Given the description of an element on the screen output the (x, y) to click on. 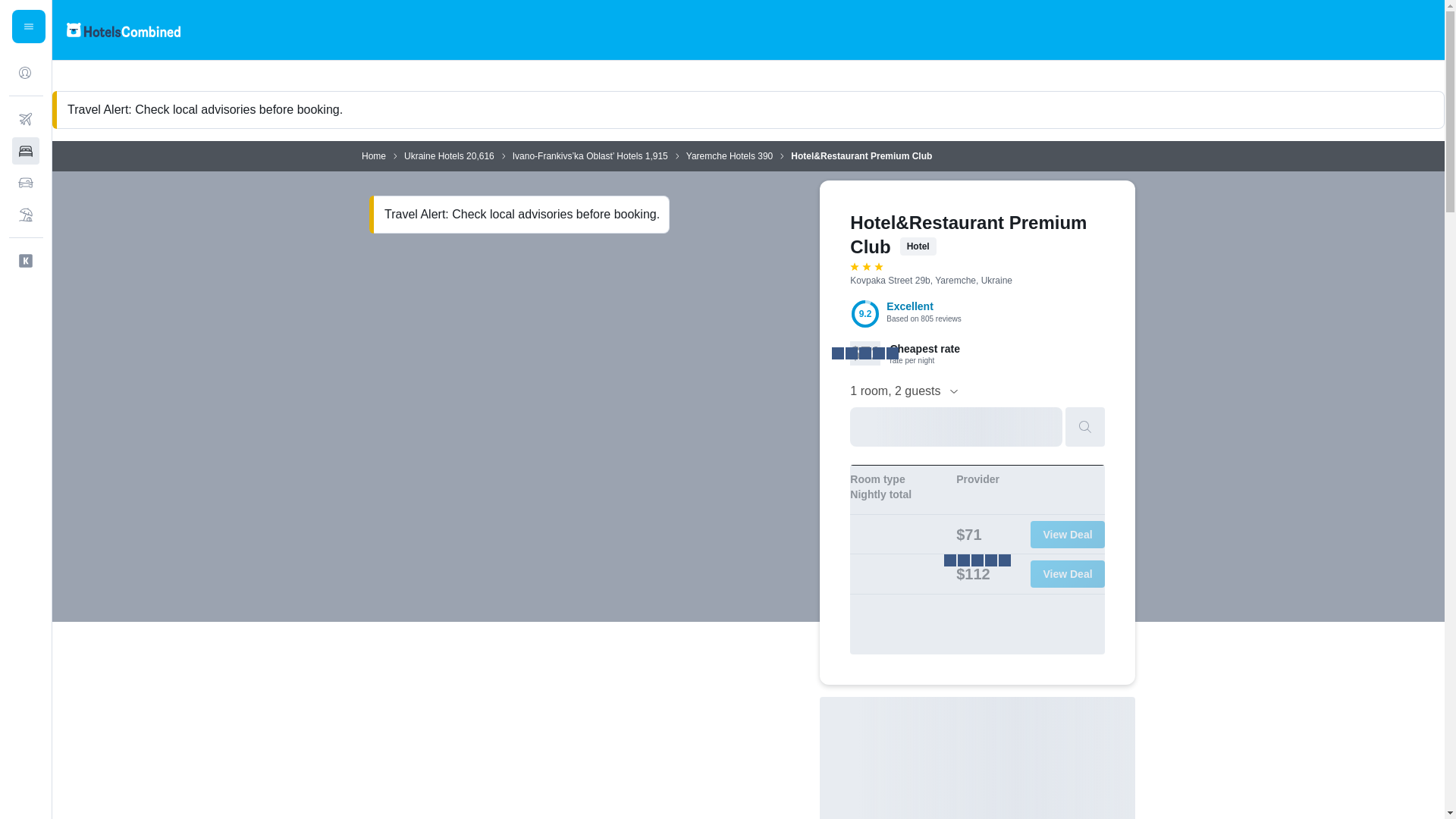
View Deal (1067, 533)
Yaremche Hotels (720, 155)
Ukraine Hotels (434, 155)
View Deal (1067, 574)
Home (373, 155)
9.2 (865, 313)
1 room, 2 guests (904, 391)
